Given the description of an element on the screen output the (x, y) to click on. 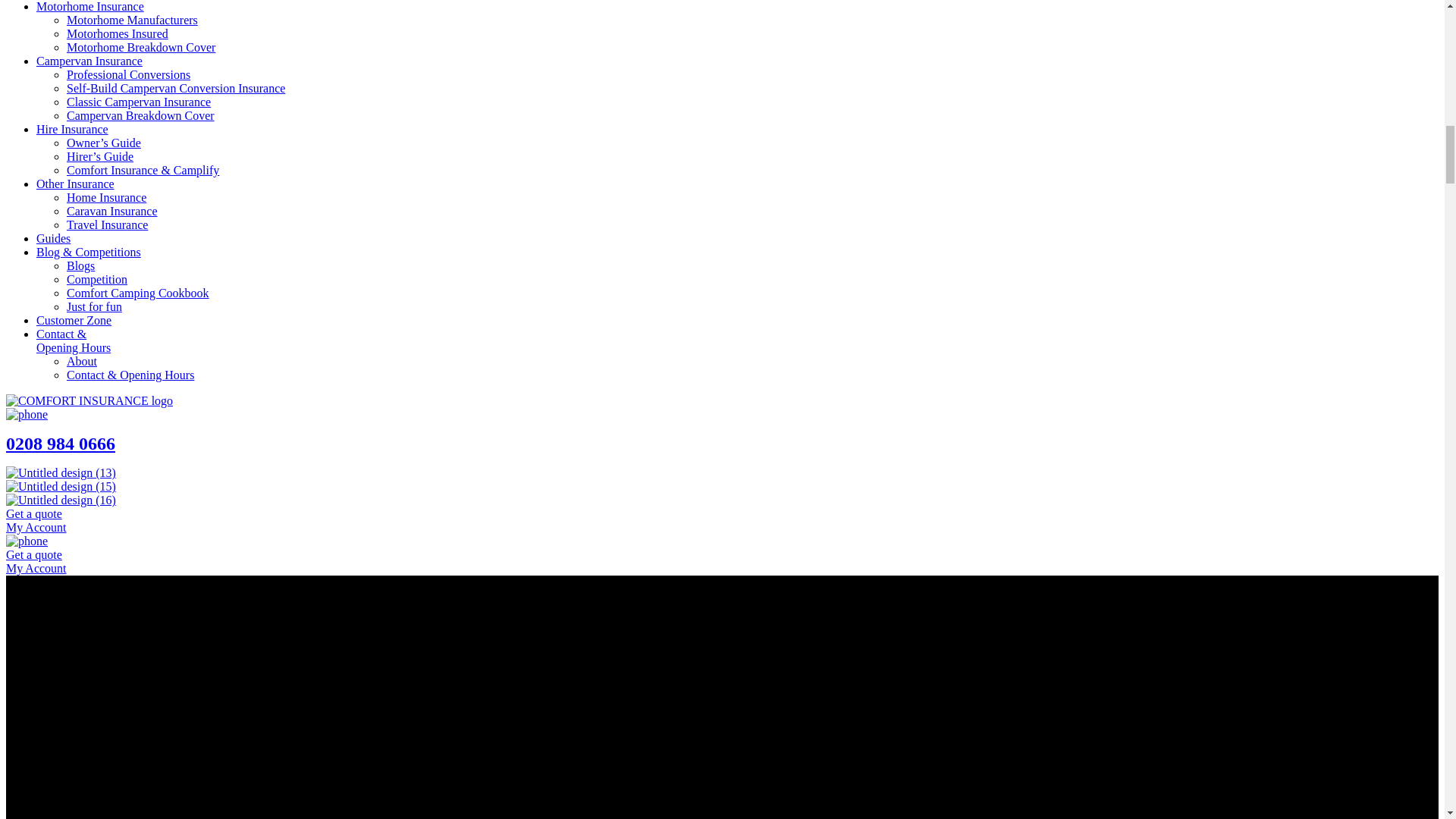
Hire Insurance (71, 128)
Blogs (80, 265)
Campervan Insurance (89, 60)
Comfort Camping Cookbook (137, 292)
Professional Conversions (128, 74)
Self-Build Campervan Conversion Insurance (175, 88)
Other Insurance (75, 183)
phone (26, 540)
Just for fun (94, 306)
Motorhome Insurance (90, 6)
